Given the description of an element on the screen output the (x, y) to click on. 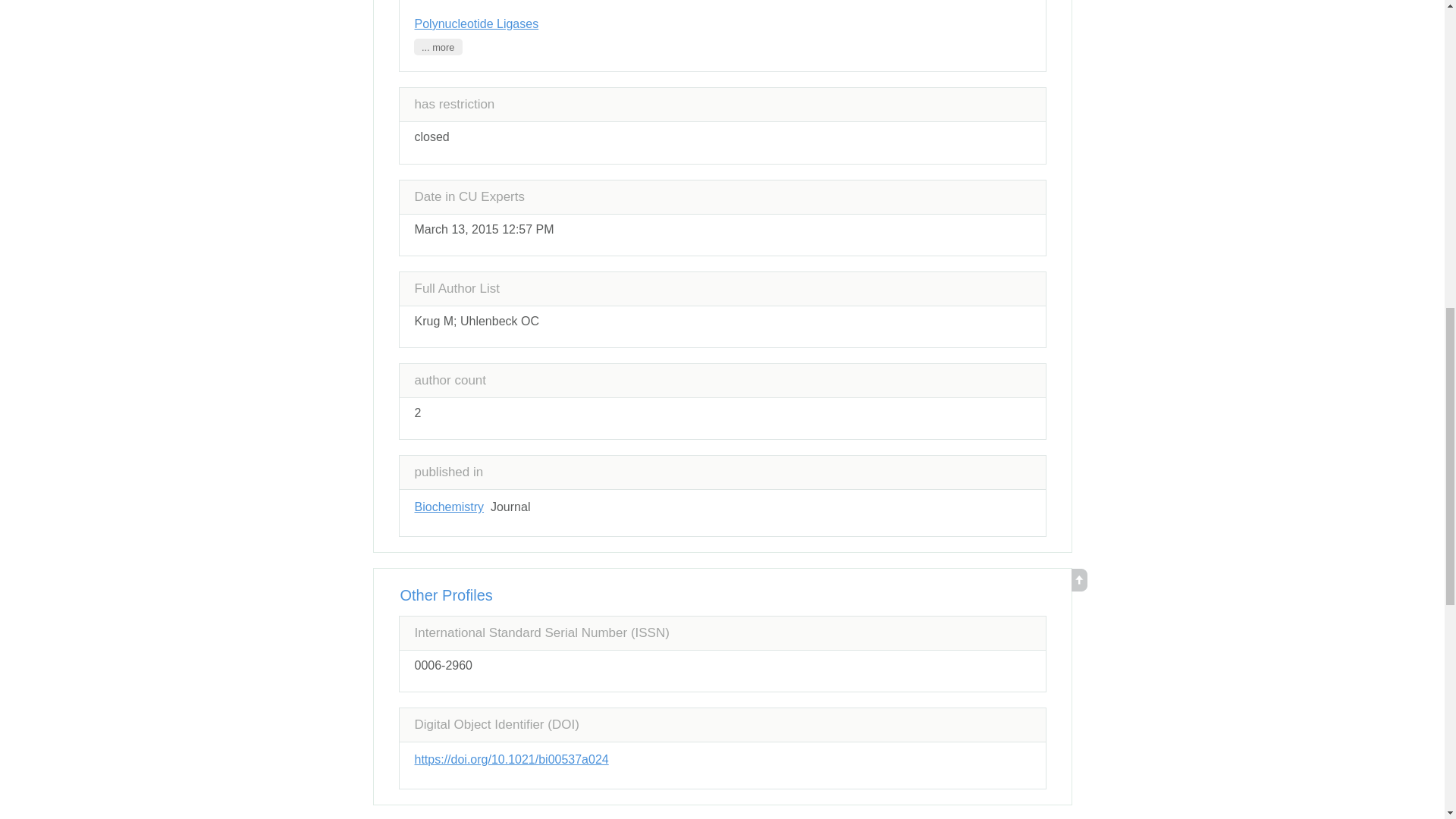
Polynucleotide Ligases (475, 23)
... more (438, 47)
Biochemistry (448, 506)
